Given the description of an element on the screen output the (x, y) to click on. 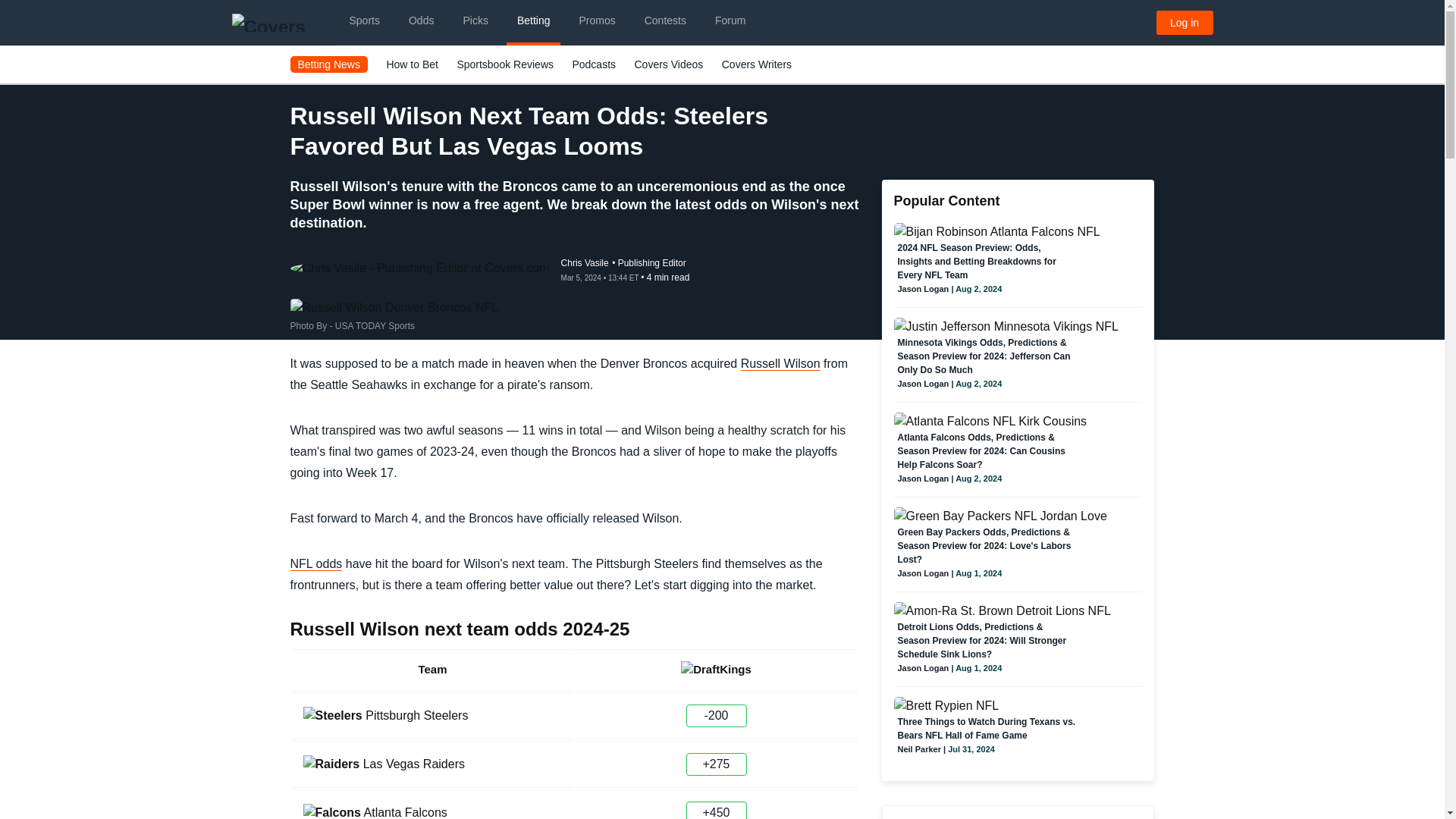
Sports (363, 22)
